Given the description of an element on the screen output the (x, y) to click on. 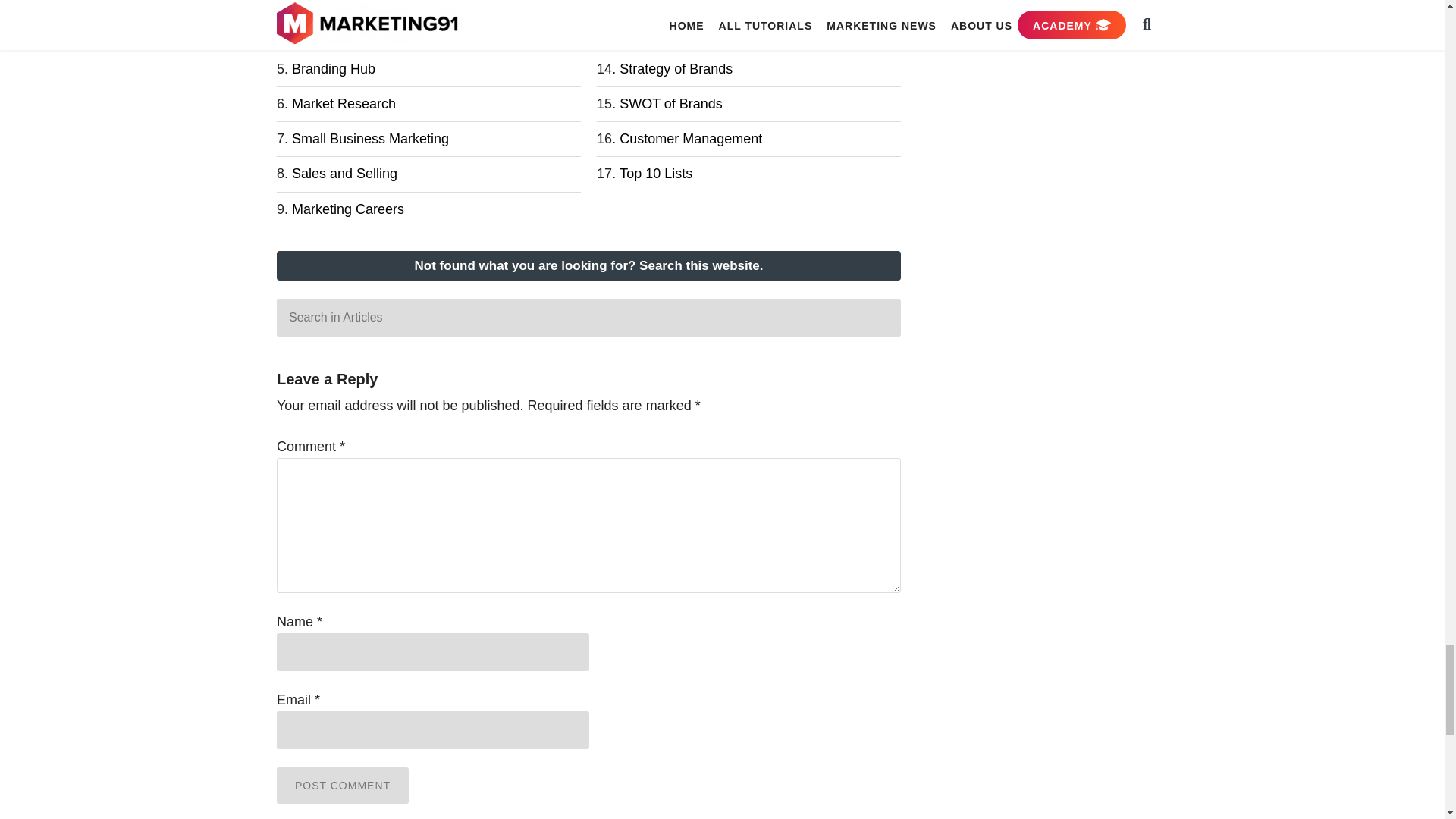
Post Comment (342, 785)
